Given the description of an element on the screen output the (x, y) to click on. 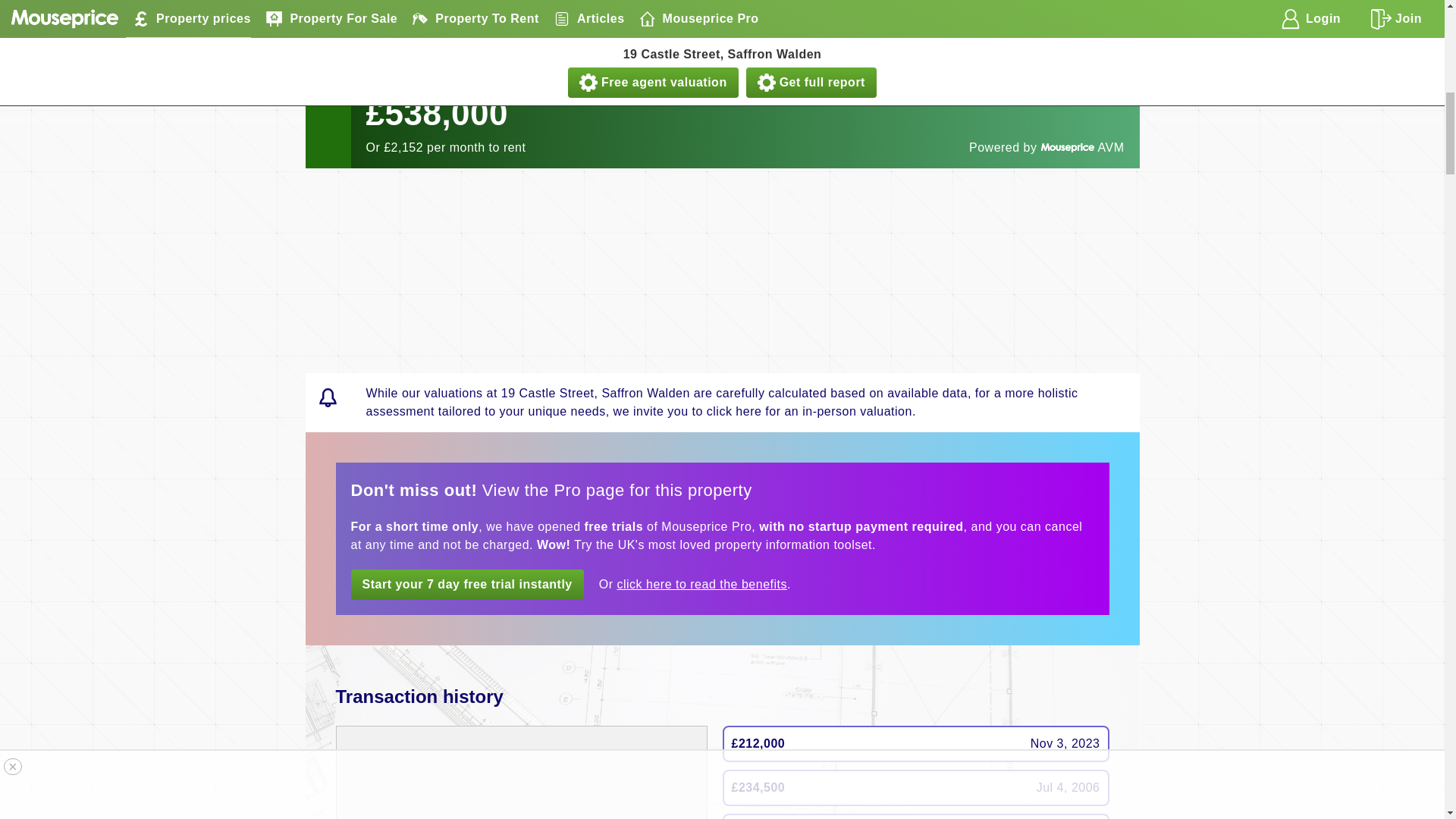
click here to read the benefits (701, 584)
Start your 7 day free trial instantly (466, 584)
